Given the description of an element on the screen output the (x, y) to click on. 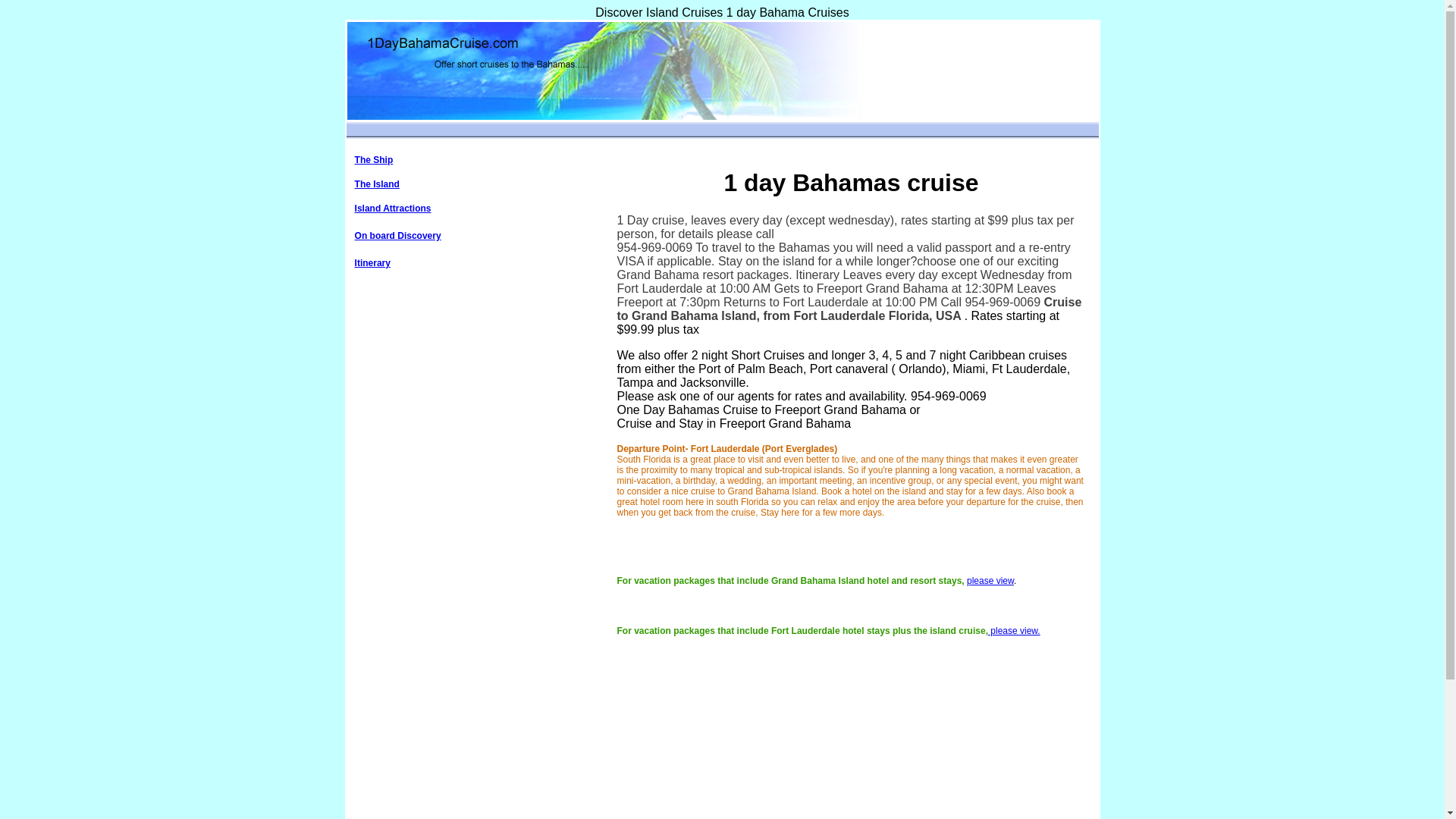
Advertisement Element type: hover (474, 614)
Island Attractions Element type: text (392, 208)
On board Discovery Element type: text (397, 235)
Advertisement Element type: hover (474, 401)
The Island Element type: text (376, 183)
please view. Element type: text (1014, 630)
The Ship Element type: text (373, 159)
Itinerary Element type: text (372, 262)
please view Element type: text (989, 580)
